Given the description of an element on the screen output the (x, y) to click on. 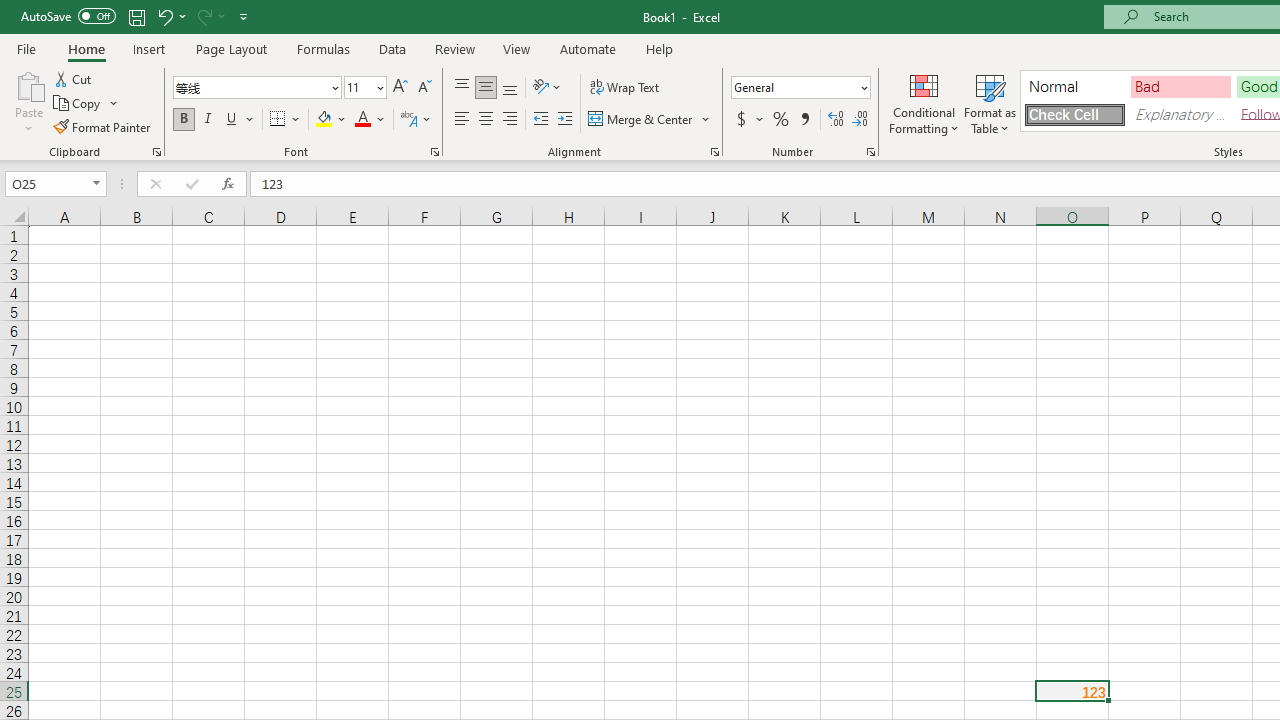
Number Format (794, 87)
Bold (183, 119)
Decrease Indent (540, 119)
Percent Style (781, 119)
Top Align (461, 87)
Orientation (547, 87)
Format Cell Number (870, 151)
Conditional Formatting (924, 102)
